Given the description of an element on the screen output the (x, y) to click on. 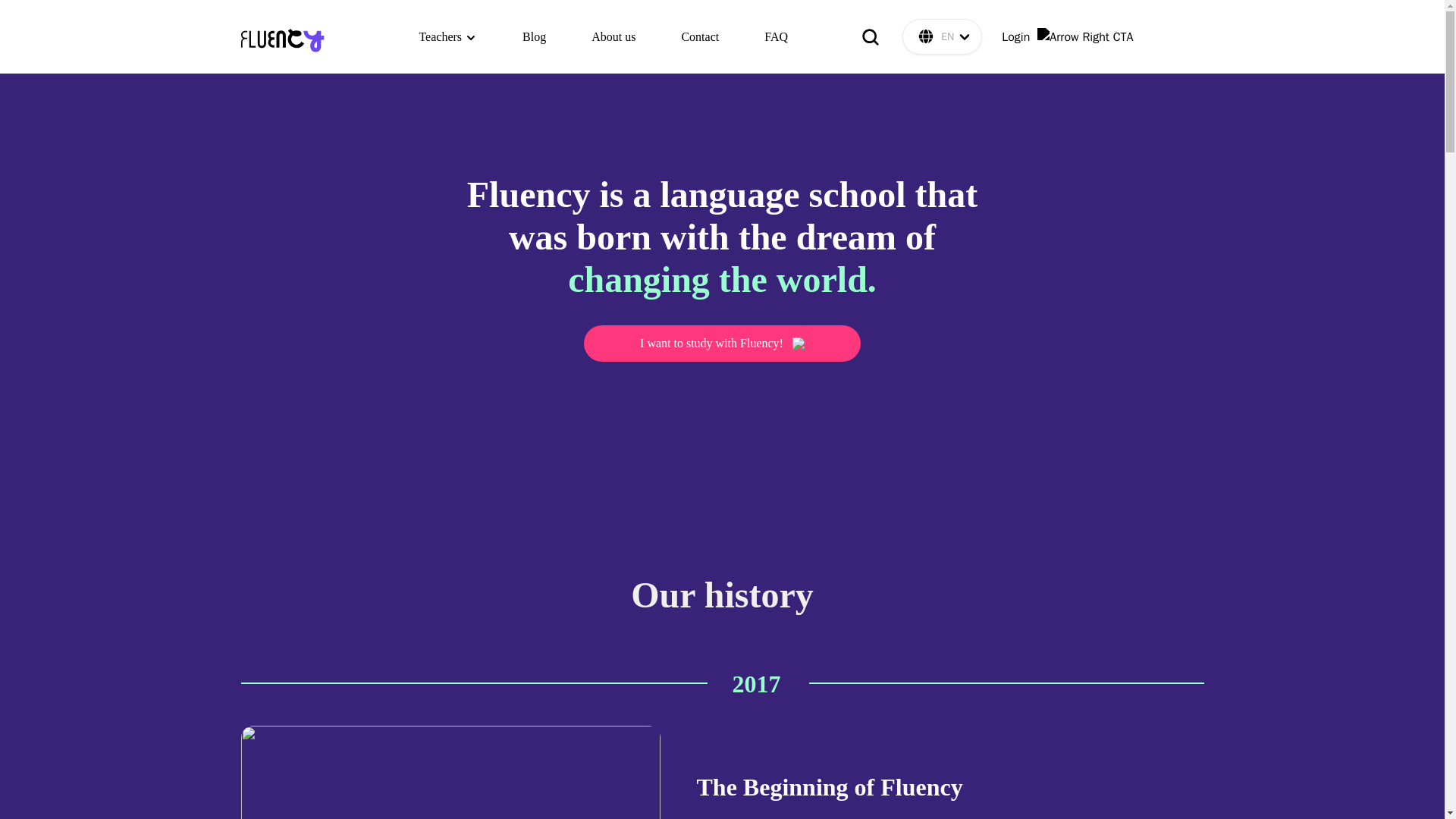
EN (941, 36)
Login (1066, 36)
FAQ (775, 36)
Logo (282, 36)
Arrow Right CTA (1084, 36)
Globe Flag (925, 36)
Contact (700, 36)
Arrow Down (964, 36)
About us (612, 36)
Teachers (448, 36)
Blog (534, 36)
Search (870, 36)
